Given the description of an element on the screen output the (x, y) to click on. 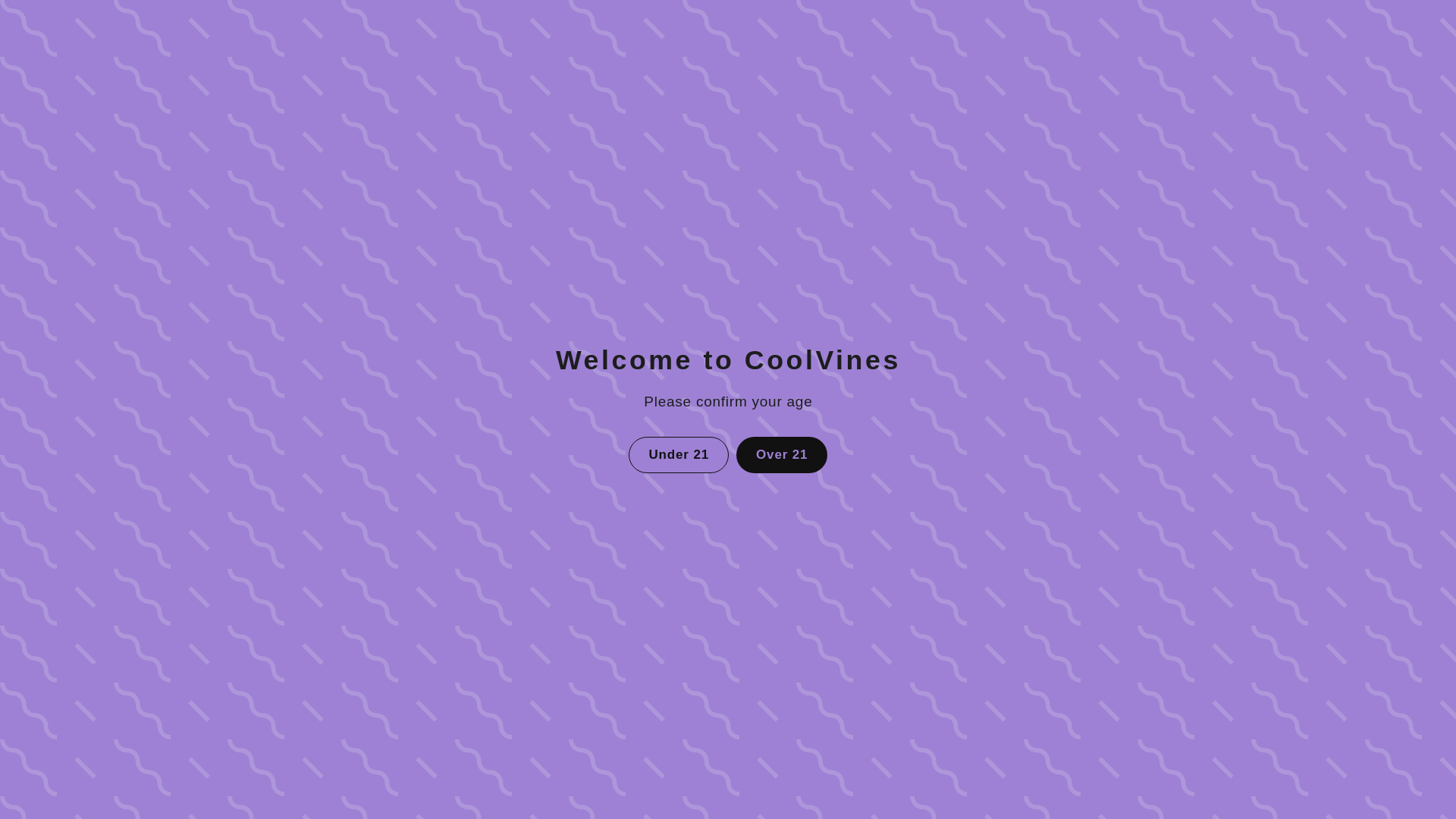
CoolVines on Instagram (655, 710)
instagram (655, 710)
Ask a question (727, 3)
instagram (655, 711)
